Given the description of an element on the screen output the (x, y) to click on. 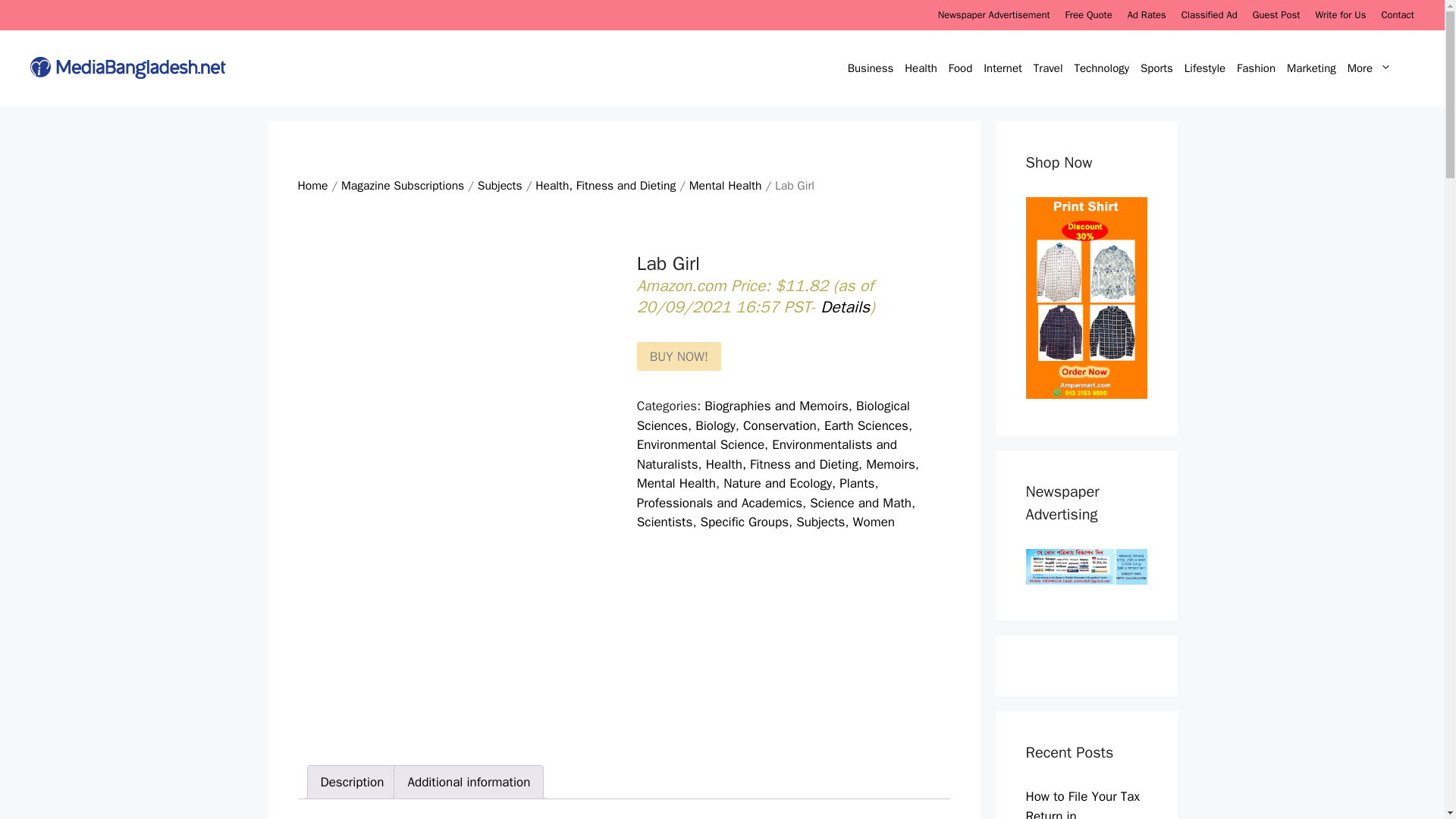
Lifestyle (1206, 67)
Fashion (1257, 67)
Write for Us (1339, 14)
Marketing (1312, 67)
Guest Post (1276, 14)
Internet (1004, 67)
Free Quote (1088, 14)
Ad Rates (1146, 14)
Health (922, 67)
More (1378, 67)
